Given the description of an element on the screen output the (x, y) to click on. 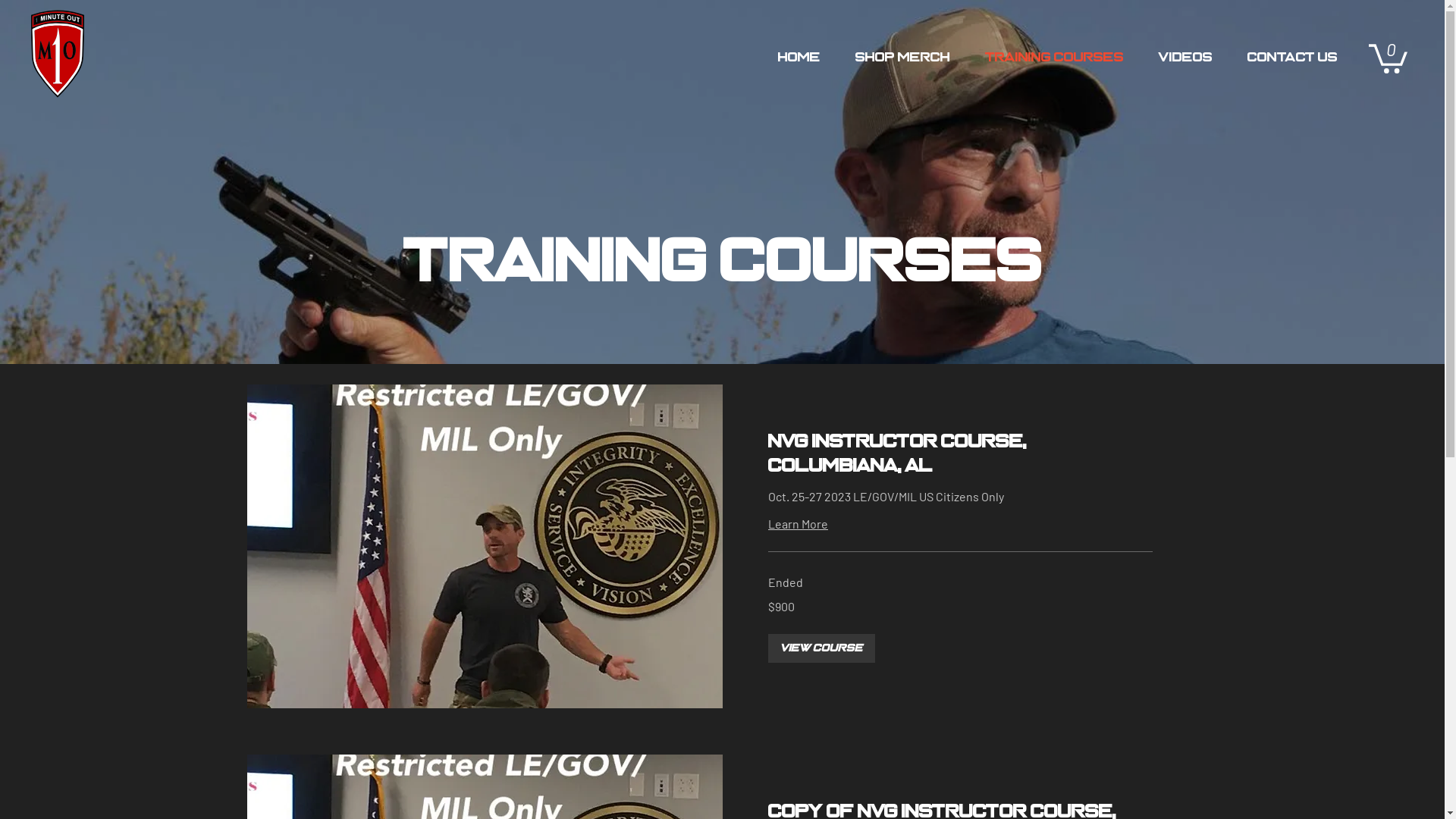
Shop Merch Element type: text (902, 57)
Contact Us Element type: text (1292, 57)
0 Element type: text (1387, 56)
View Course Element type: text (820, 647)
Training Courses Element type: text (1054, 57)
Learn More Element type: text (797, 523)
Videos Element type: text (1185, 57)
NVG Instructor Course, Columbiana, AL Element type: text (959, 453)
Home Element type: text (798, 57)
